Given the description of an element on the screen output the (x, y) to click on. 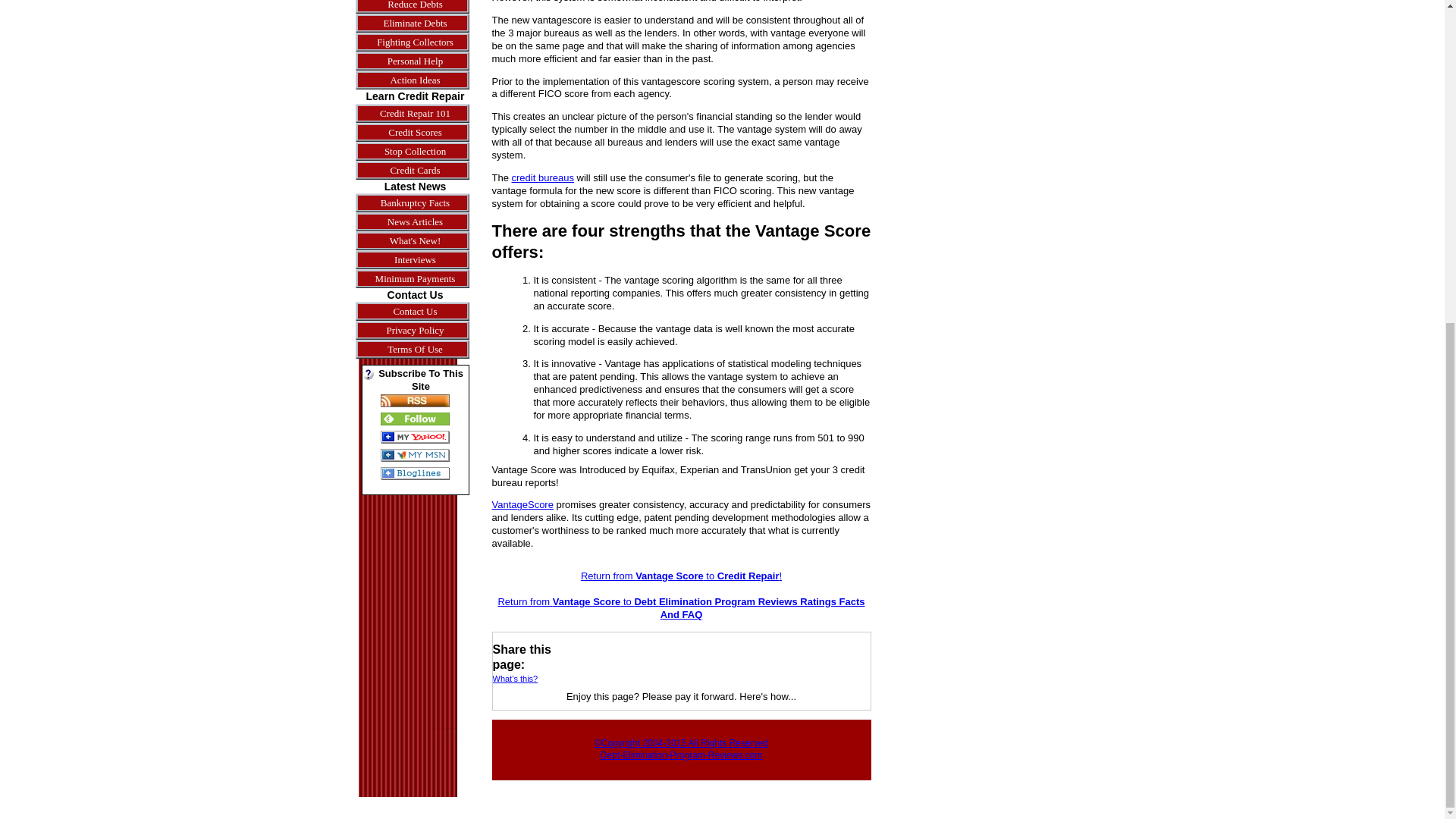
News Articles (414, 221)
Action Ideas (414, 79)
Privacy Policy (414, 330)
Interviews (414, 259)
Credit Cards (414, 169)
Contact Us (414, 311)
What's New! (414, 240)
Credit Repair 101 (414, 113)
Bankruptcy Facts (414, 202)
Minimum Payments (414, 278)
